Given the description of an element on the screen output the (x, y) to click on. 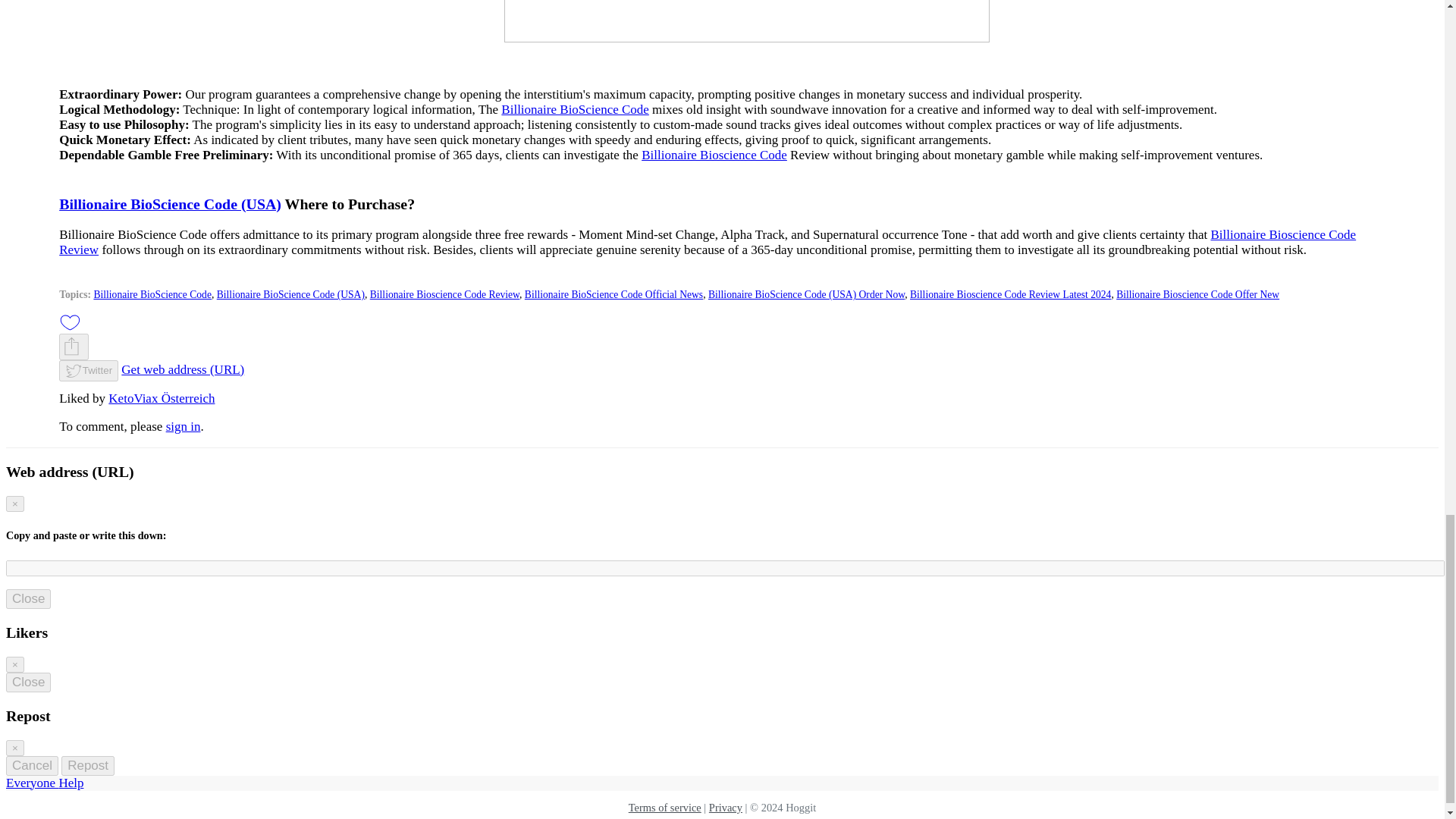
Billionaire BioScience Code (152, 294)
Billionaire Bioscience Code Review (707, 242)
Share (73, 346)
Billionaire Bioscience Code Review Latest 2024 (1010, 294)
Like (70, 320)
Billionaire BioScience Code Official News (613, 294)
Share (71, 346)
Twitter (88, 371)
Like (70, 322)
Billionaire Bioscience Code Review (444, 294)
Billionaire Bioscience Code Offer New (1197, 294)
Billionaire Bioscience Code (714, 155)
Billionaire BioScience Code (574, 109)
